Given the description of an element on the screen output the (x, y) to click on. 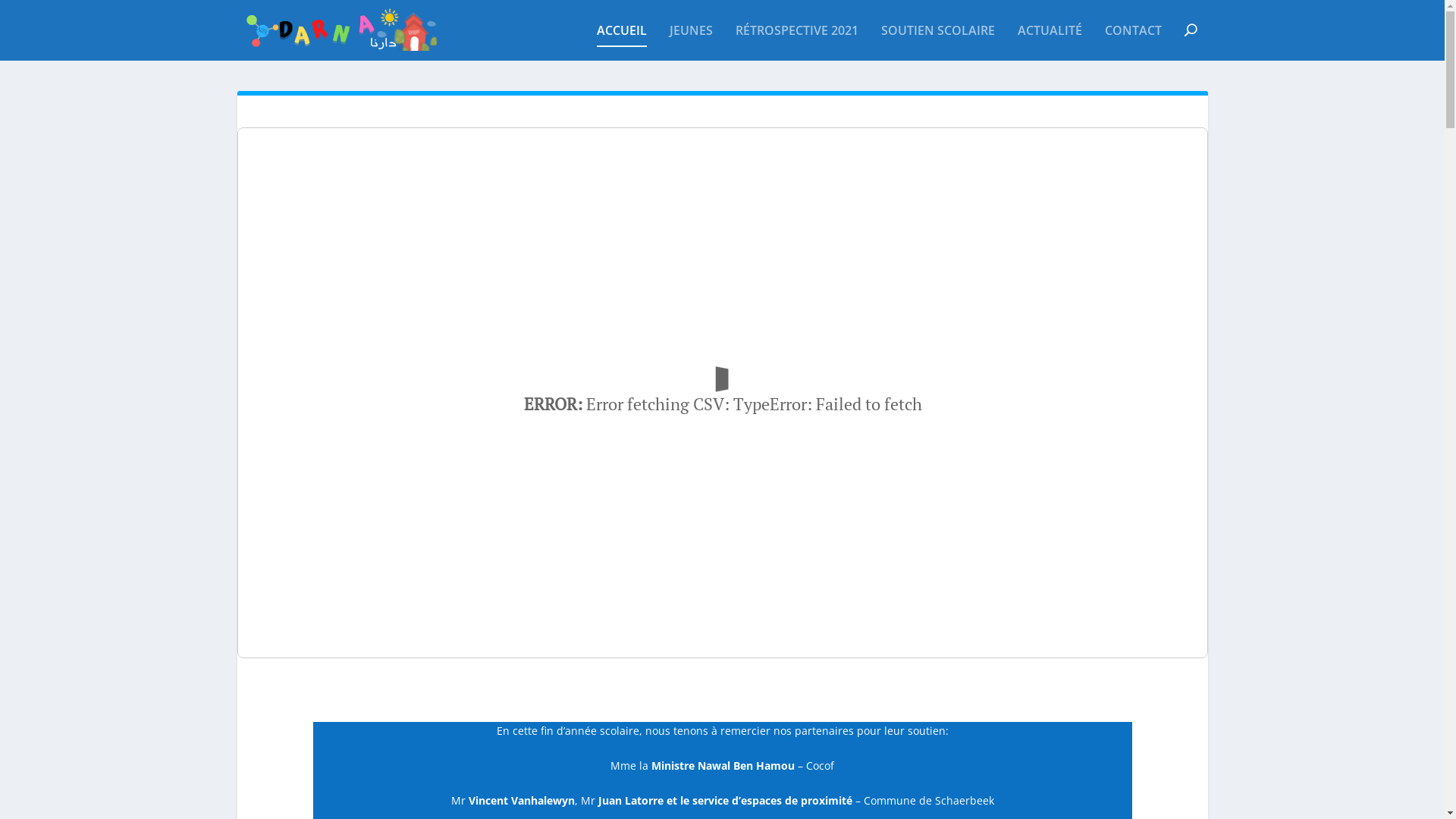
ACCUEIL Element type: text (621, 42)
JEUNES Element type: text (690, 42)
CONTACT Element type: text (1132, 42)
SOUTIEN SCOLAIRE Element type: text (937, 42)
